Given the description of an element on the screen output the (x, y) to click on. 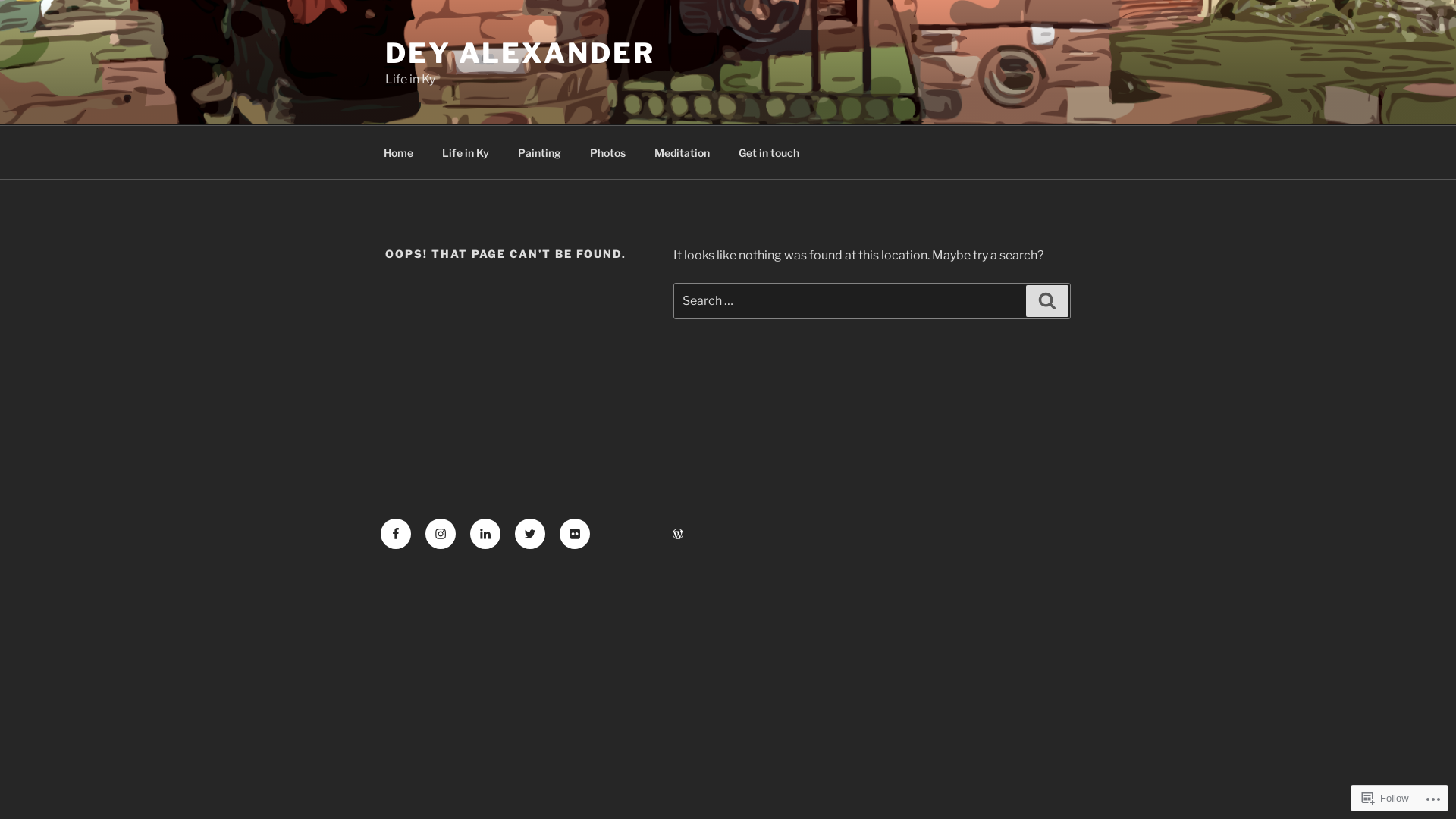
Follow Element type: text (1385, 797)
Home Element type: text (398, 151)
Photos Element type: text (607, 151)
Get in touch Element type: text (768, 151)
Create a website or blog at WordPress.com Element type: text (677, 533)
Meditation Element type: text (681, 151)
Life in Ky Element type: text (465, 151)
DEY ALEXANDER Element type: text (519, 52)
Painting Element type: text (539, 151)
